Given the description of an element on the screen output the (x, y) to click on. 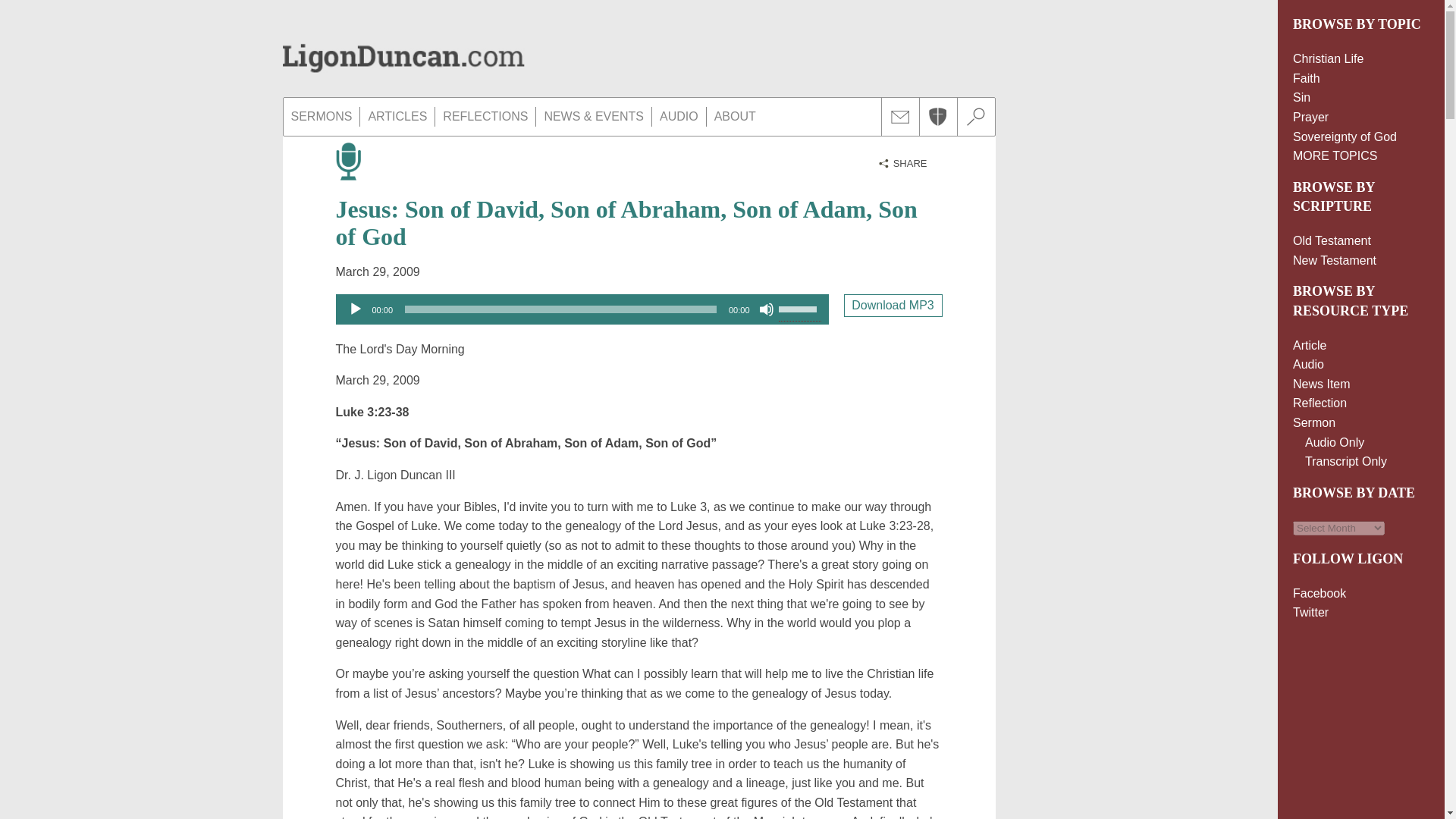
ARTICLES (397, 116)
Download MP3 (892, 305)
Christian Life (1327, 58)
Play (354, 309)
AUDIO (679, 116)
Faith (1306, 78)
Mute (765, 309)
SERMONS (322, 116)
ABOUT (734, 116)
REFLECTIONS (485, 116)
